Given the description of an element on the screen output the (x, y) to click on. 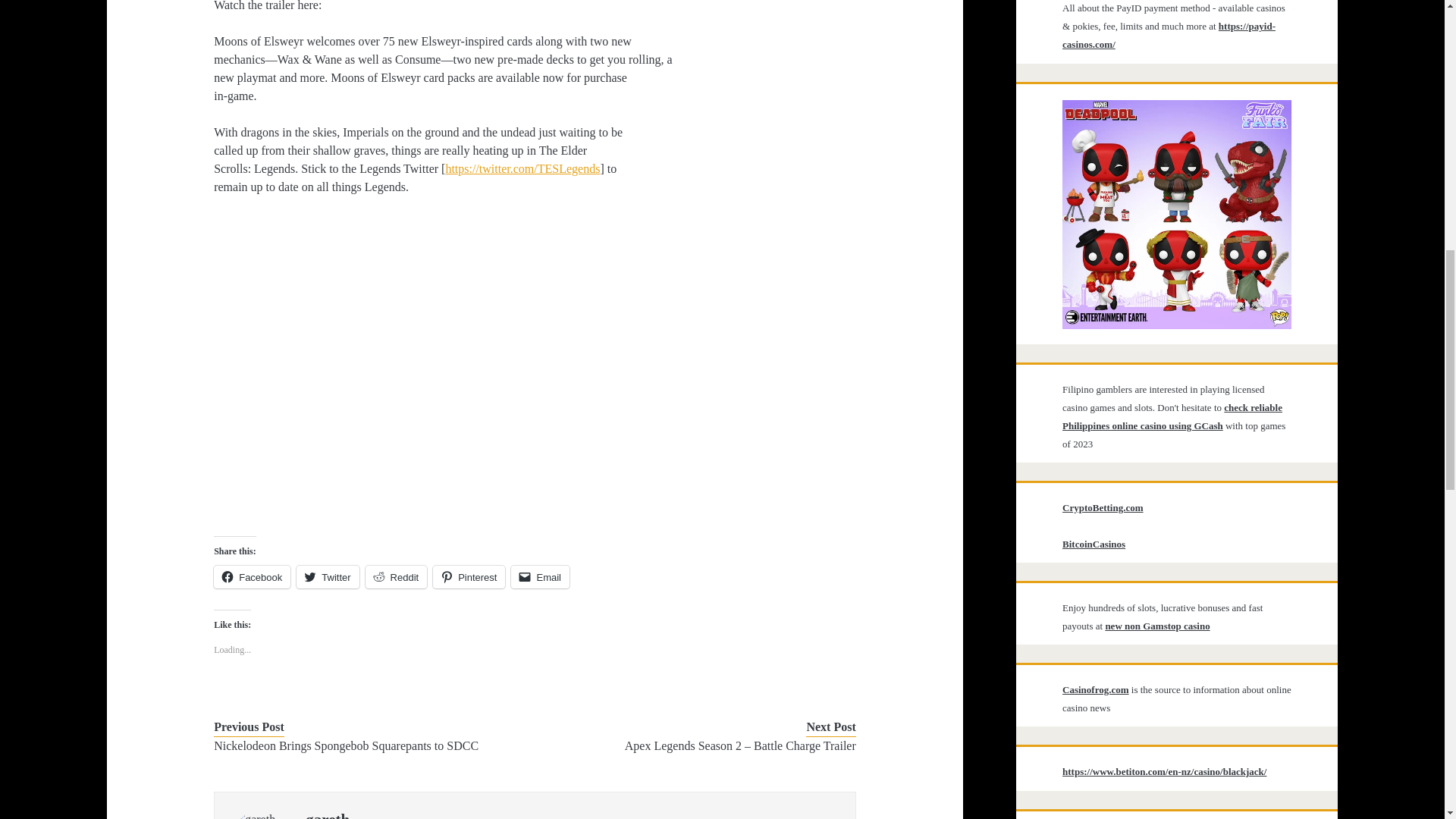
Reddit (396, 576)
Click to share on Reddit (396, 576)
Click to email a link to a friend (540, 576)
Pinterest (468, 576)
Click to share on Facebook (251, 576)
Click to share on Twitter (327, 576)
Click to share on Pinterest (468, 576)
Email (540, 576)
Facebook (251, 576)
Twitter (327, 576)
